Given the description of an element on the screen output the (x, y) to click on. 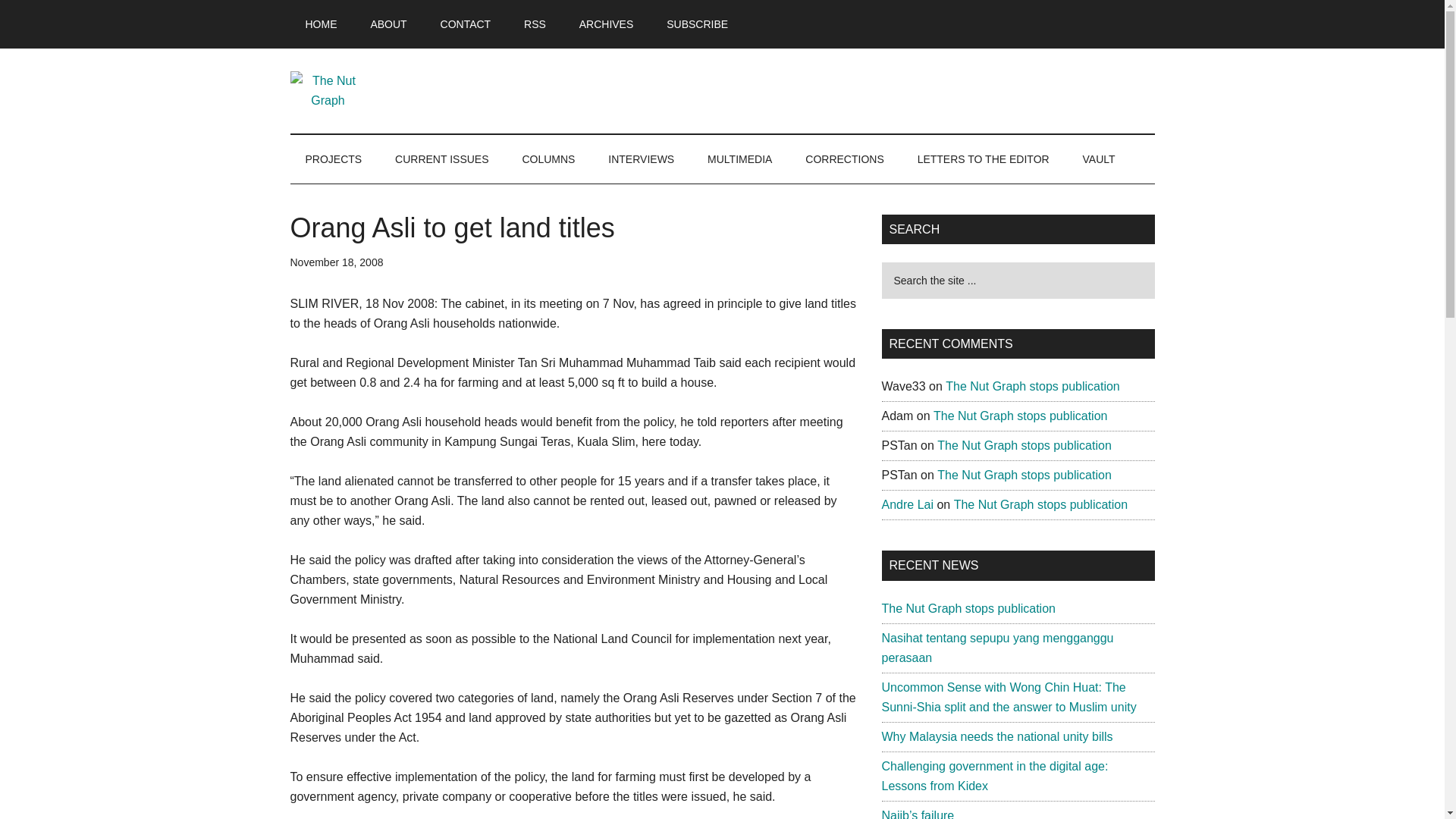
RSS (534, 24)
HOME (320, 24)
ABOUT (388, 24)
CONTACT (465, 24)
VAULT (1099, 159)
MULTIMEDIA (740, 159)
CURRENT ISSUES (441, 159)
COLUMNS (547, 159)
PROJECTS (333, 159)
CORRECTIONS (844, 159)
ARCHIVES (606, 24)
INTERVIEWS (640, 159)
